Given the description of an element on the screen output the (x, y) to click on. 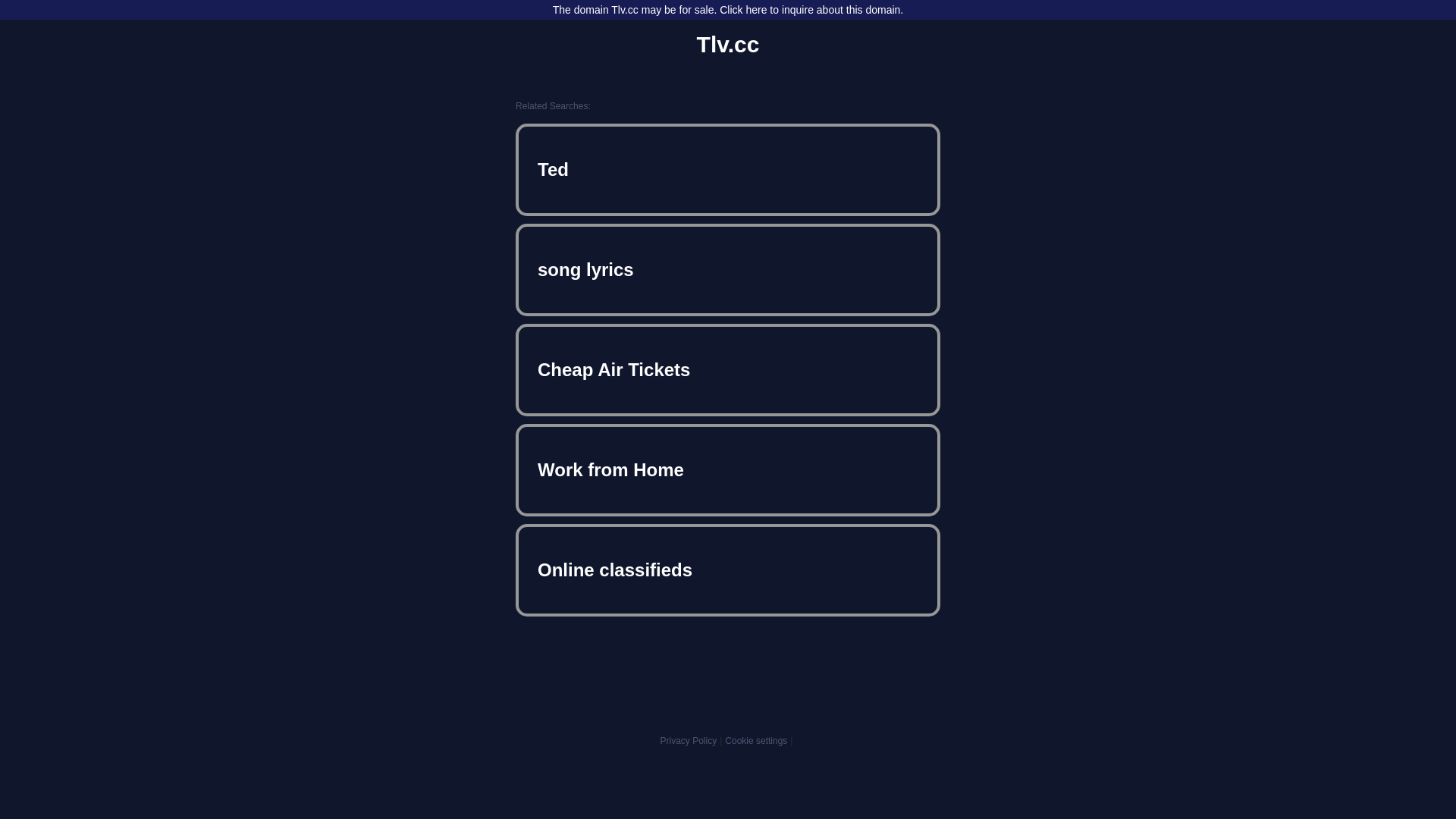
song lyrics Element type: text (727, 269)
Cheap Air Tickets Element type: text (727, 369)
Ted Element type: text (727, 169)
Work from Home Element type: text (727, 469)
Cookie settings Element type: text (755, 740)
Online classifieds Element type: text (727, 570)
Privacy Policy Element type: text (687, 740)
Tlv.cc Element type: text (727, 44)
